Given the description of an element on the screen output the (x, y) to click on. 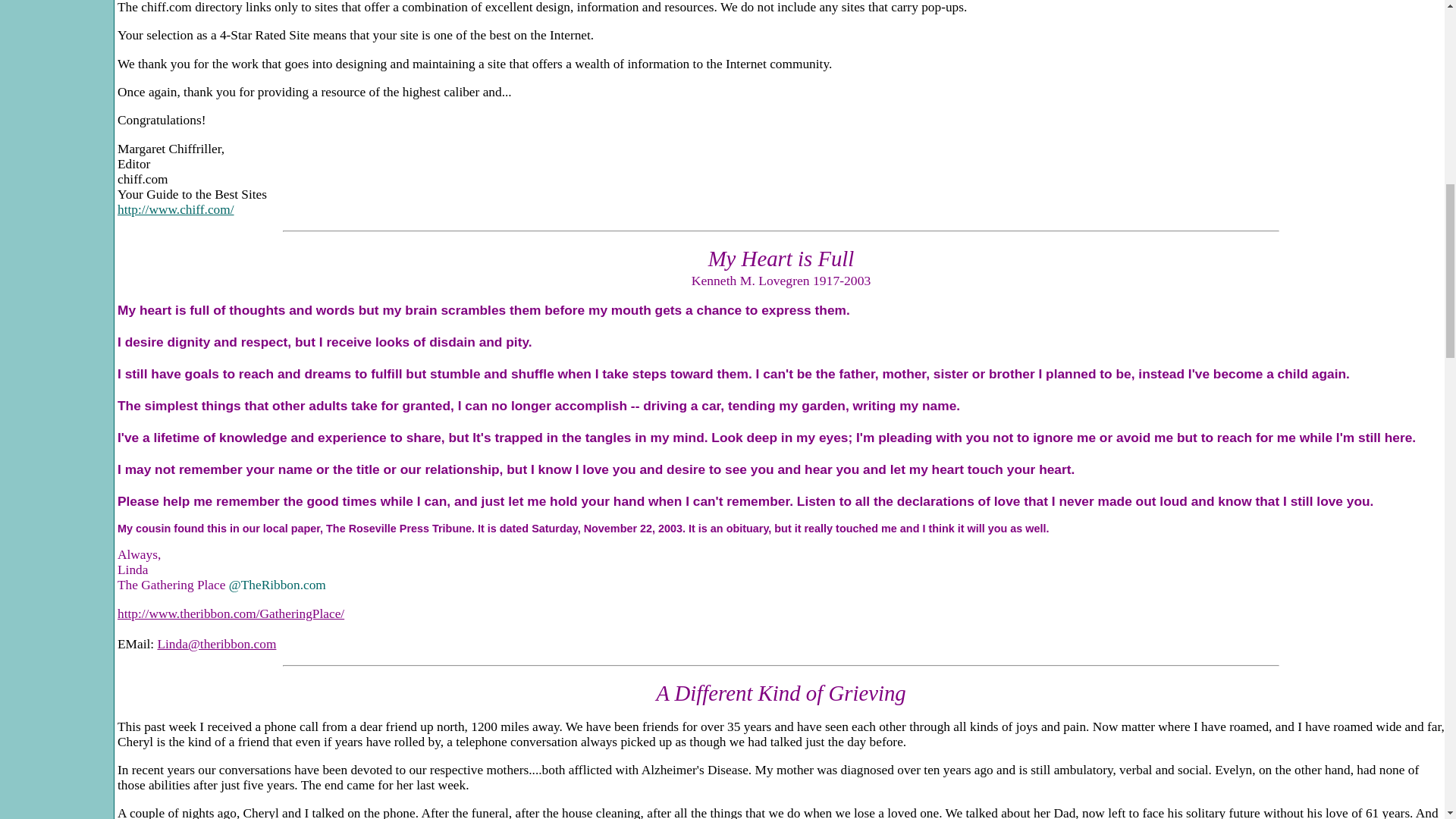
Chiff.com - Your Guide to the Best Sites (175, 209)
Send Email to Linda (216, 644)
